Given the description of an element on the screen output the (x, y) to click on. 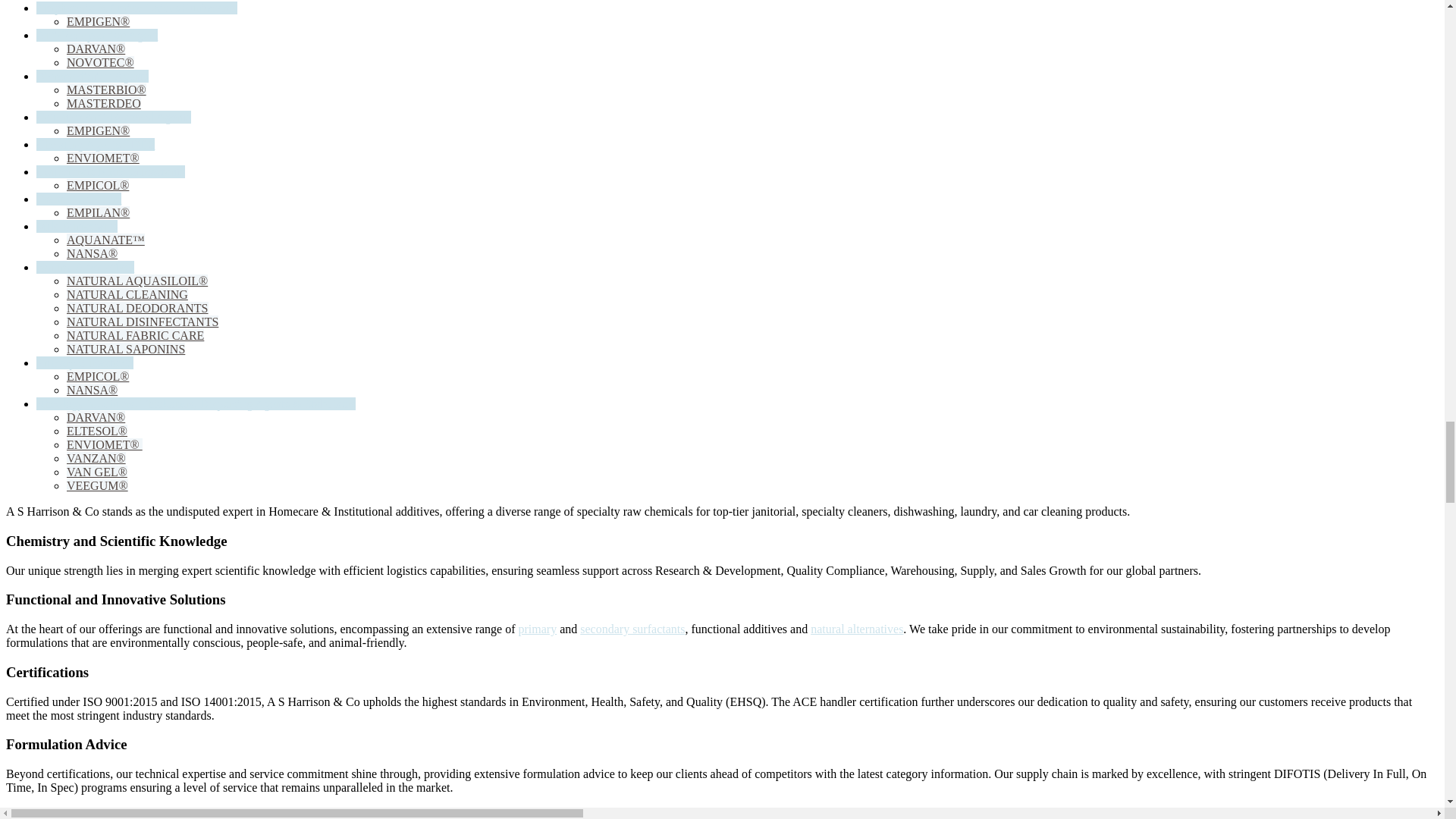
Anti-Redeposition Agent (96, 34)
MASTERDEO (103, 103)
Chelating Agents EDDS (95, 144)
Bioremediation Agents (92, 75)
Cationics Anti-Bacterial Agents (113, 116)
